Given the description of an element on the screen output the (x, y) to click on. 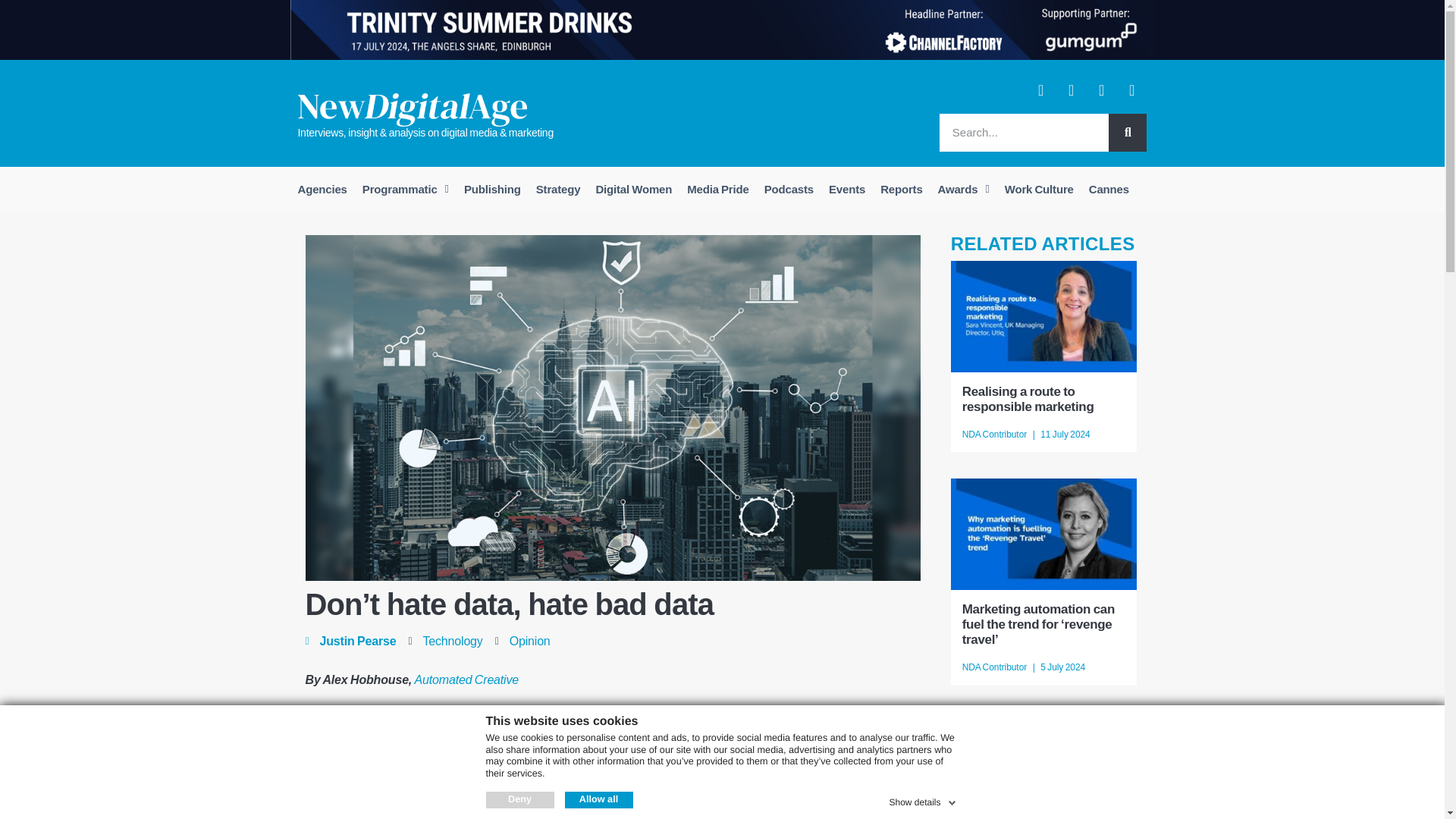
Allow all (597, 799)
Deny (518, 799)
Show details (923, 799)
